Given the description of an element on the screen output the (x, y) to click on. 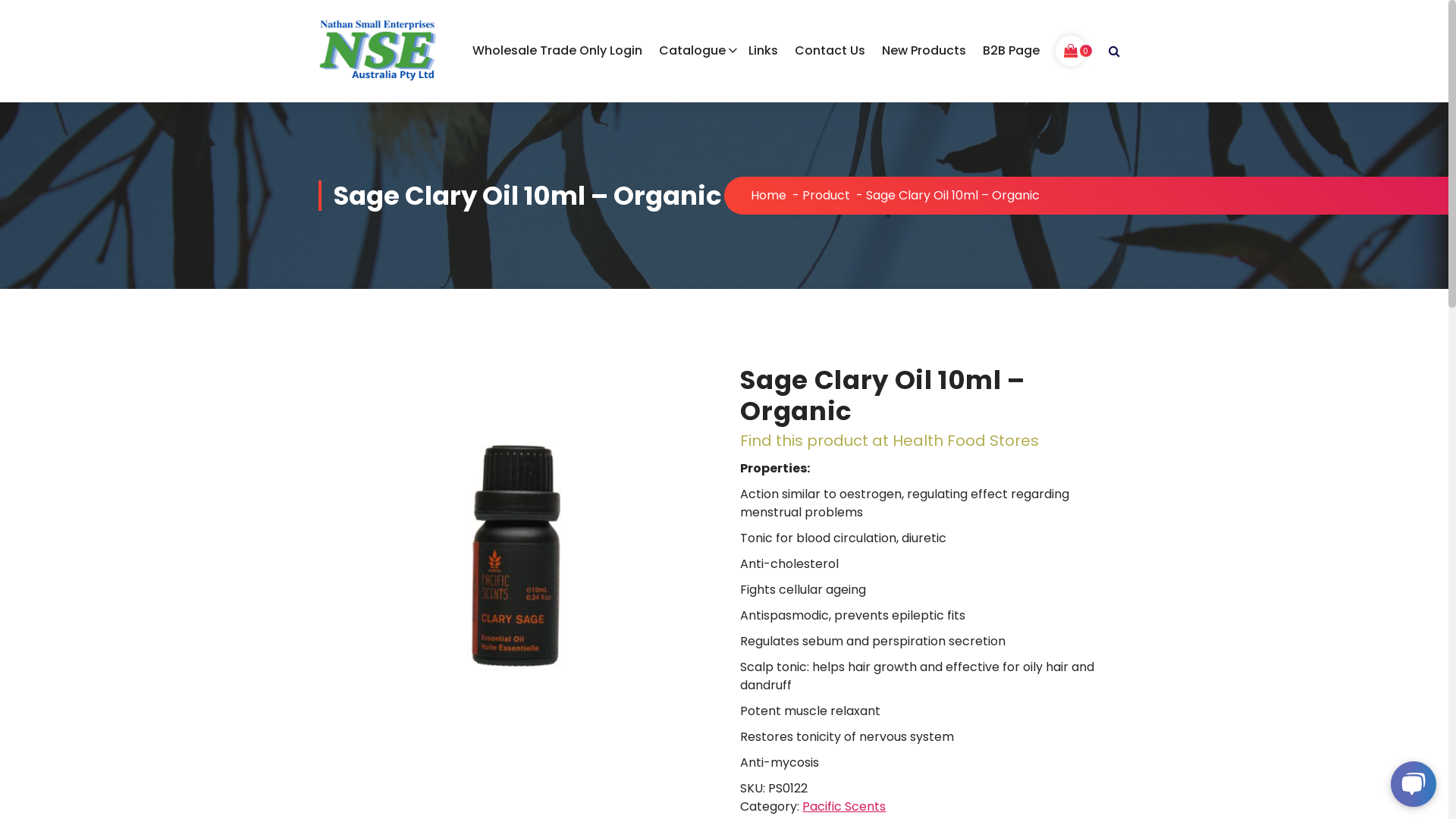
Product Element type: text (826, 194)
Gradiant Element type: text (1102, 793)
Wholesale Trade Only Login Element type: text (557, 50)
New Products Element type: text (923, 50)
Contact Us Element type: text (829, 50)
0 Element type: text (1070, 50)
Clary Sage 10ml Element type: hover (513, 559)
Links Element type: text (763, 50)
B2B Page Element type: text (1010, 50)
Pacific Scents Element type: text (843, 806)
Catalogue Element type: text (694, 50)
Home Element type: text (768, 194)
